Given the description of an element on the screen output the (x, y) to click on. 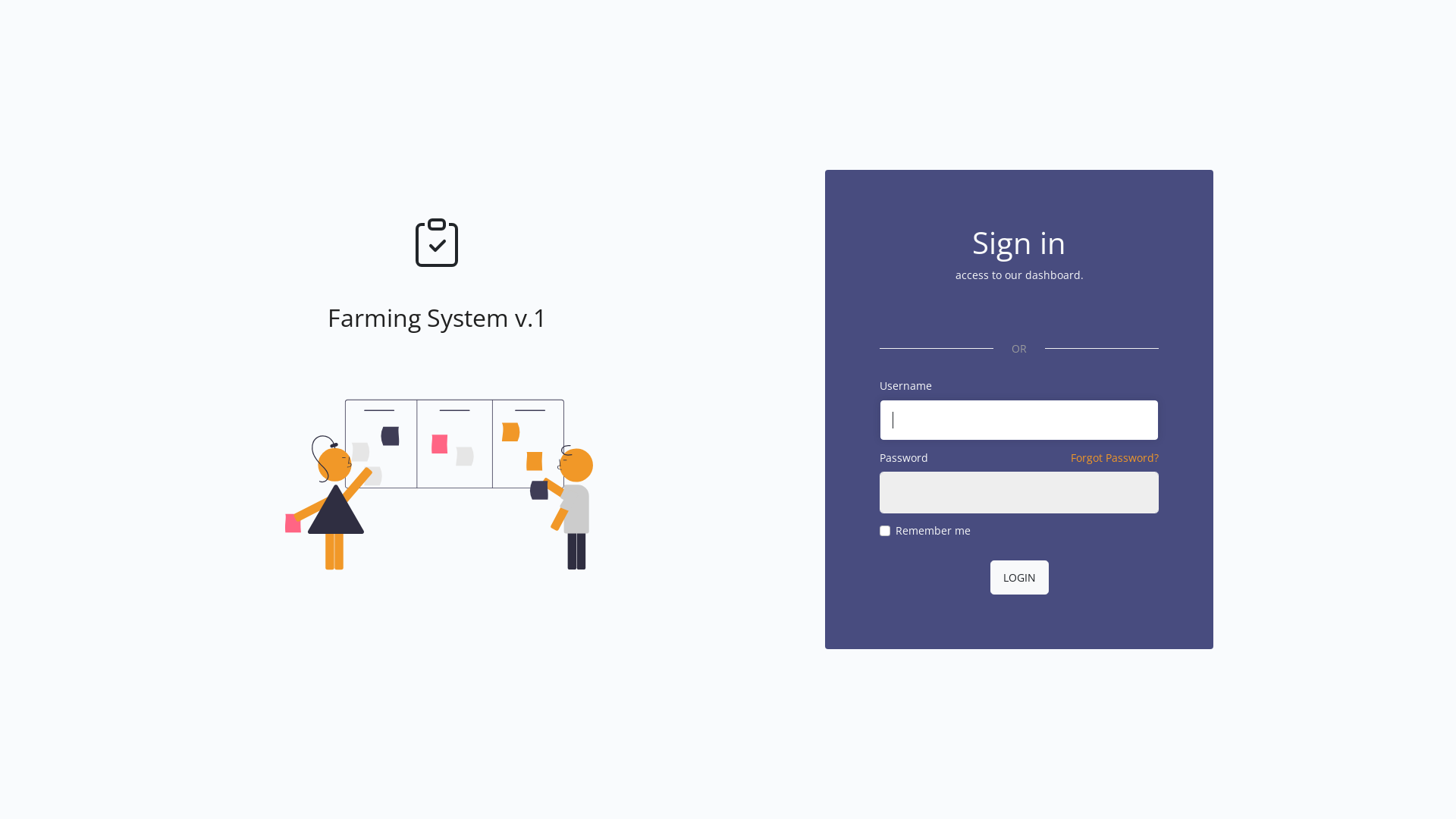
Forgot Password? Element type: text (1114, 457)
LOGIN Element type: text (1019, 577)
